Given the description of an element on the screen output the (x, y) to click on. 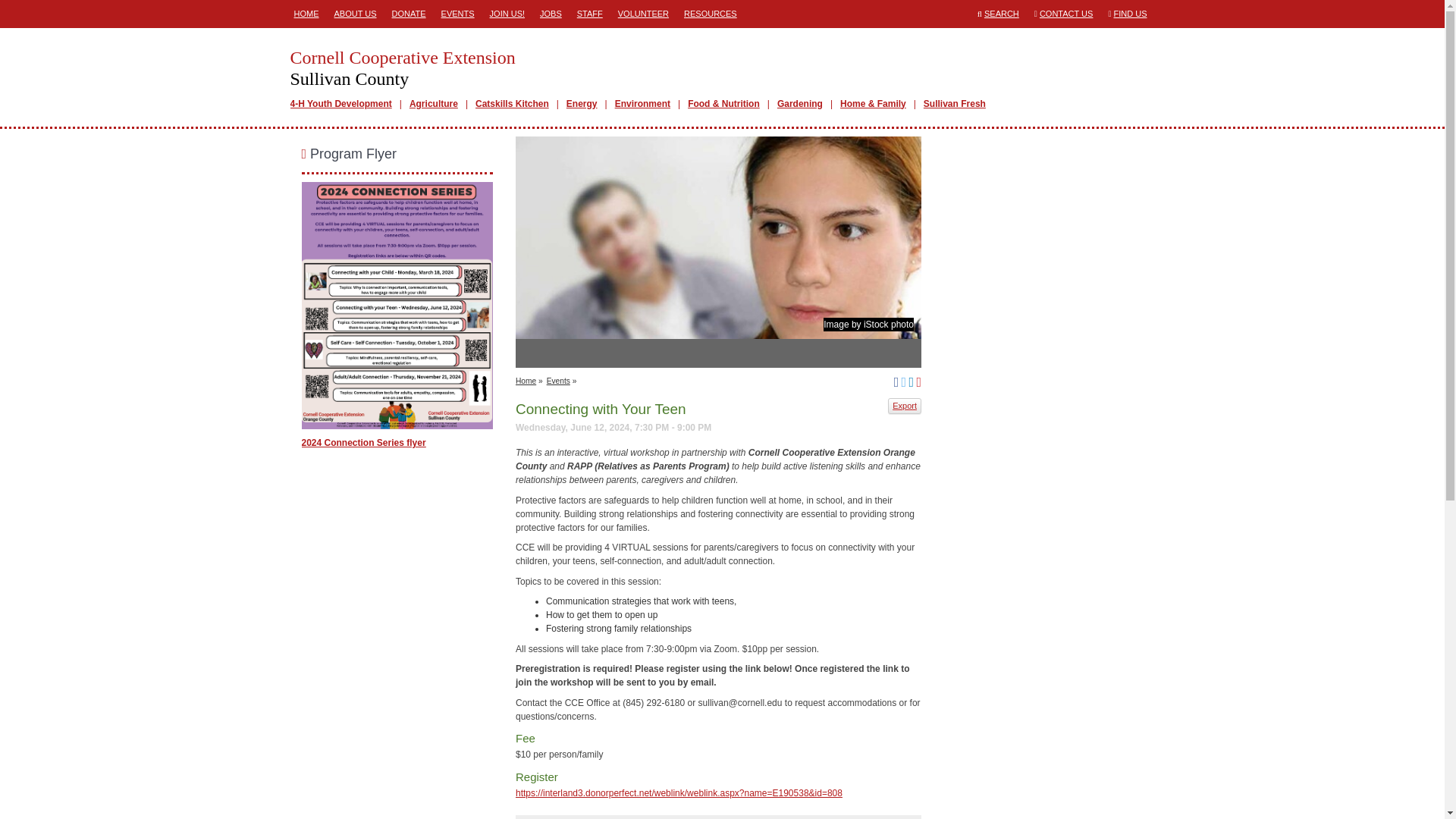
JOBS (550, 13)
HOME (305, 13)
EVENTS (458, 13)
Events (558, 380)
RESOURCES (710, 13)
Sullivan Fresh (954, 103)
Agriculture (433, 103)
VOLUNTEER (643, 13)
ABOUT US (355, 13)
STAFF (590, 13)
